Given the description of an element on the screen output the (x, y) to click on. 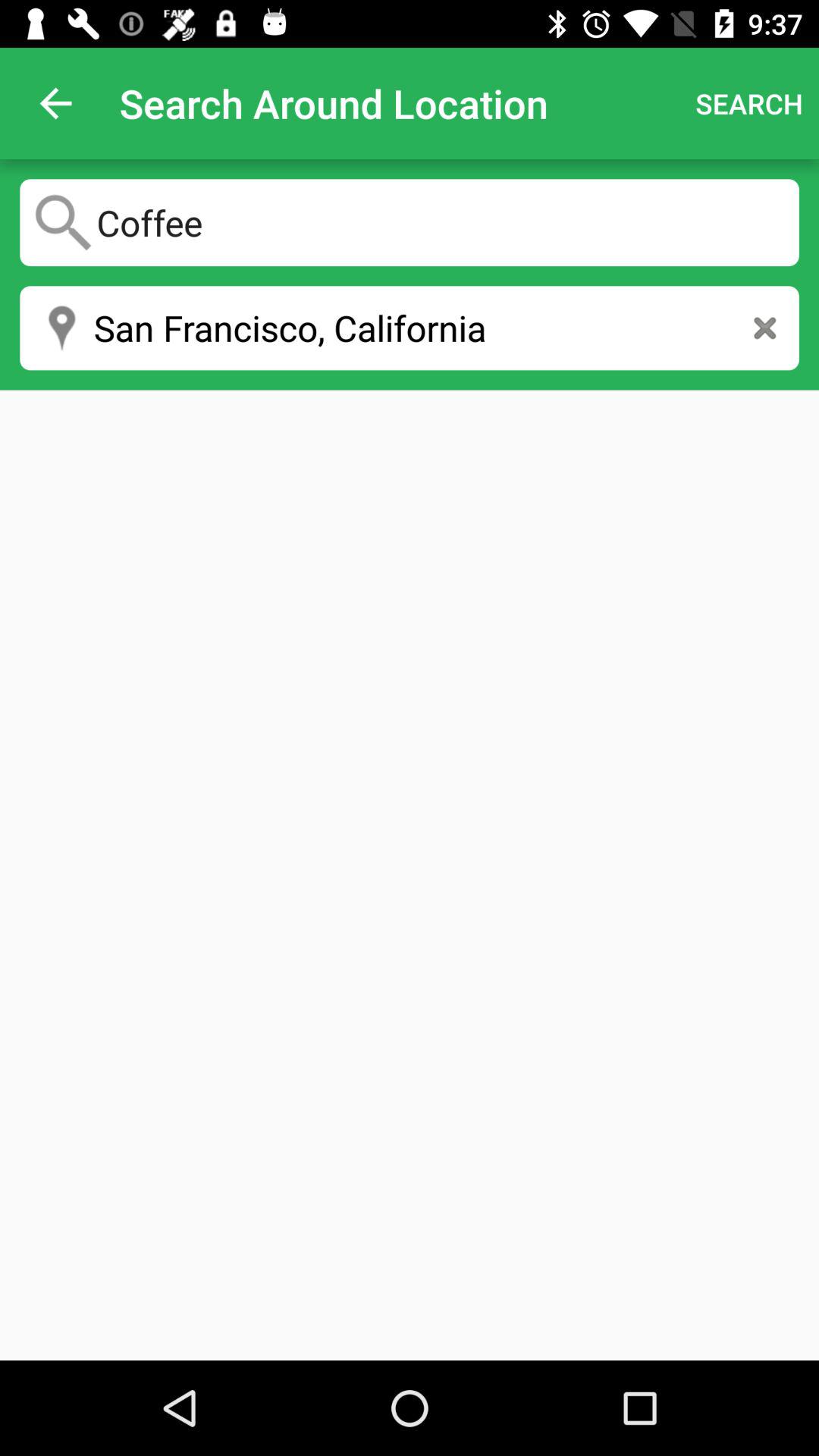
select the icon below the coffee (764, 328)
